Given the description of an element on the screen output the (x, y) to click on. 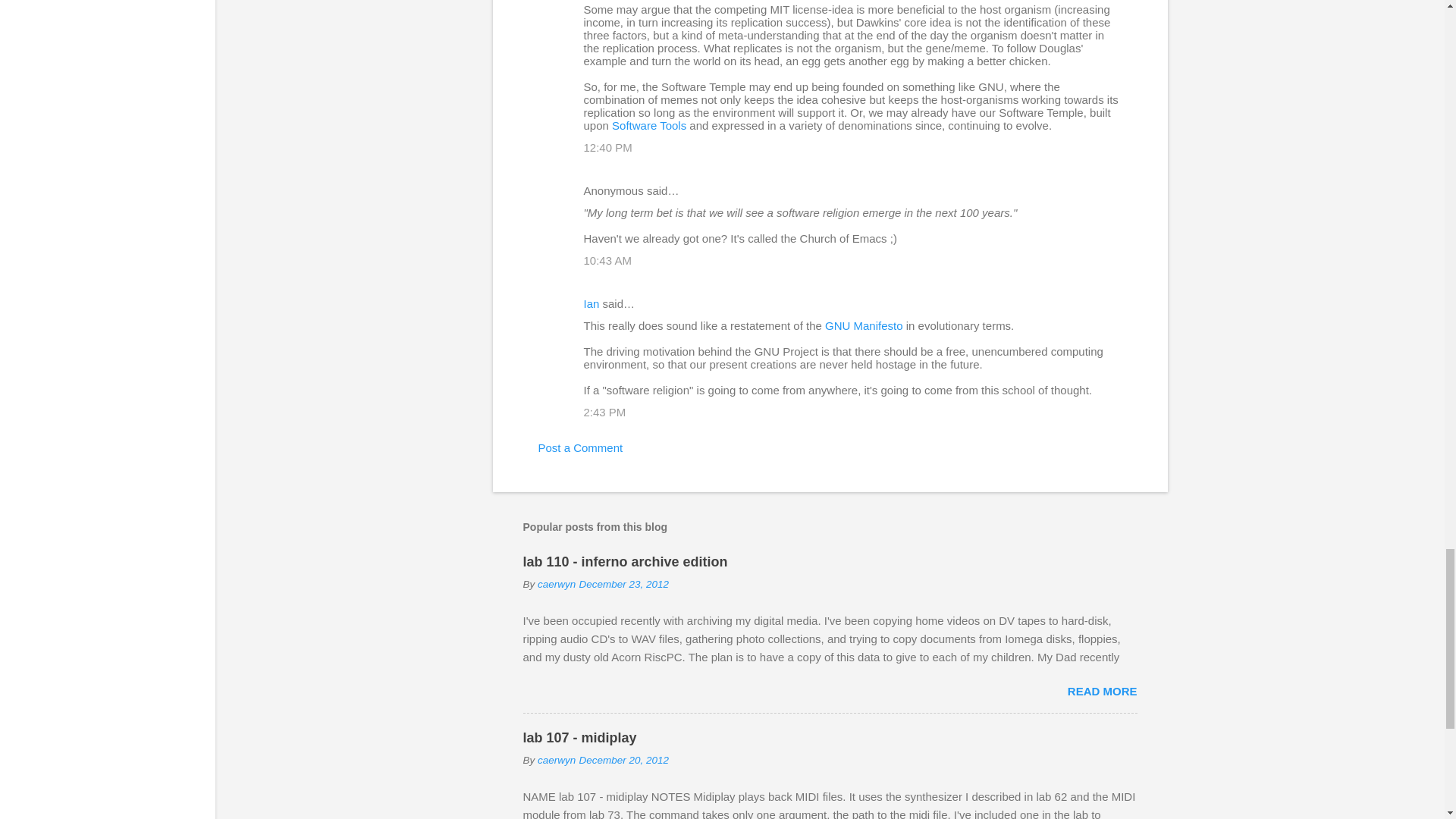
Ian (591, 303)
caerwyn (556, 759)
Software Tools (648, 124)
comment permalink (607, 146)
READ MORE (1102, 690)
lab 110 - inferno archive edition (625, 561)
GNU Manifesto (863, 325)
December 23, 2012 (623, 583)
lab 107 - midiplay (579, 737)
2:43 PM (604, 411)
caerwyn (556, 583)
10:43 AM (607, 259)
12:40 PM (607, 146)
December 20, 2012 (623, 759)
Post a Comment (580, 447)
